Given the description of an element on the screen output the (x, y) to click on. 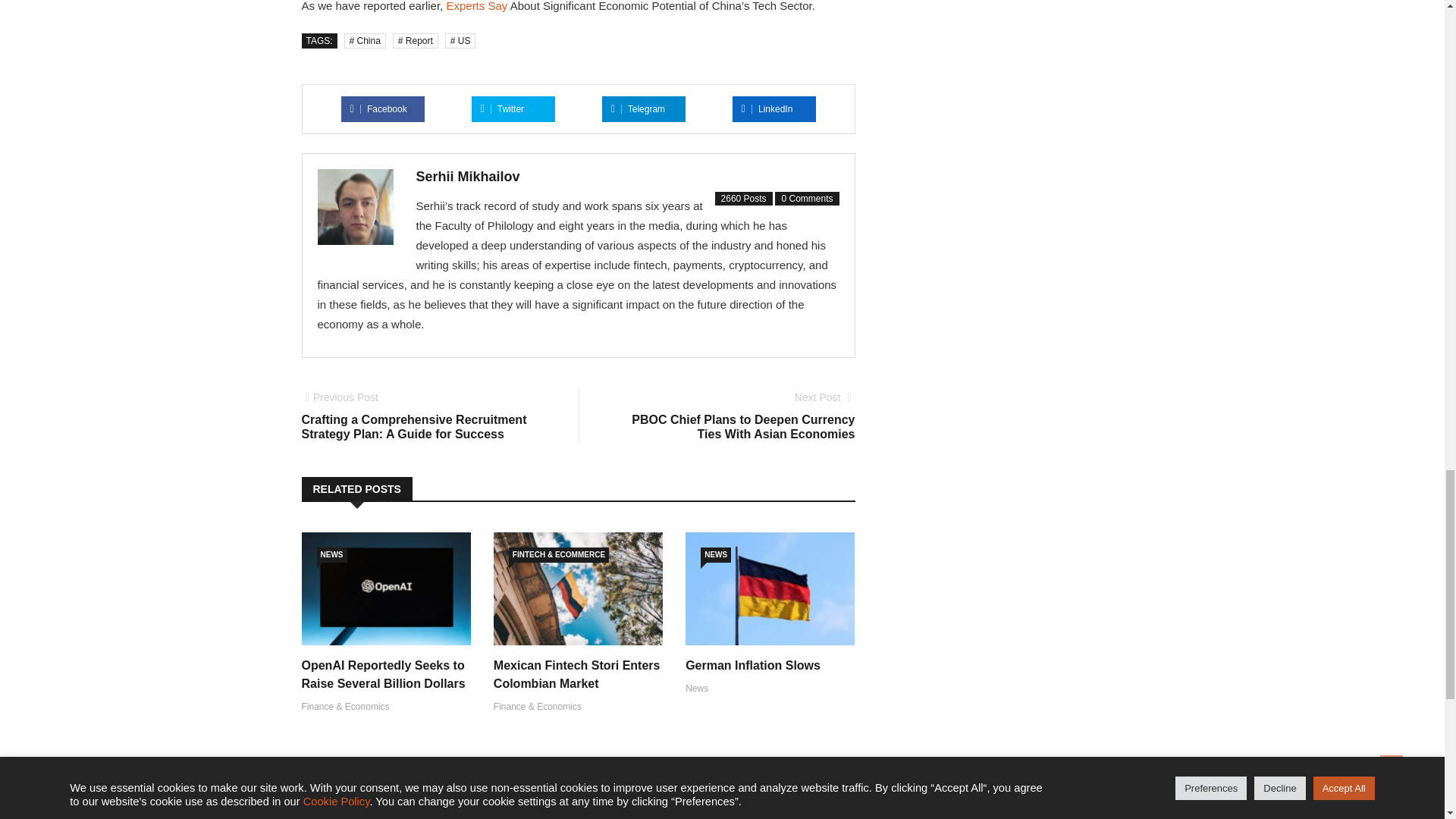
Telegram (638, 109)
LinkedIn (767, 109)
NEWS (715, 554)
Facebook (378, 109)
German Inflation Slows (753, 664)
NEWS (332, 554)
OpenAI Reportedly Seeks to Raise Several Billion Dollars (383, 673)
Experts Say (475, 6)
